Given the description of an element on the screen output the (x, y) to click on. 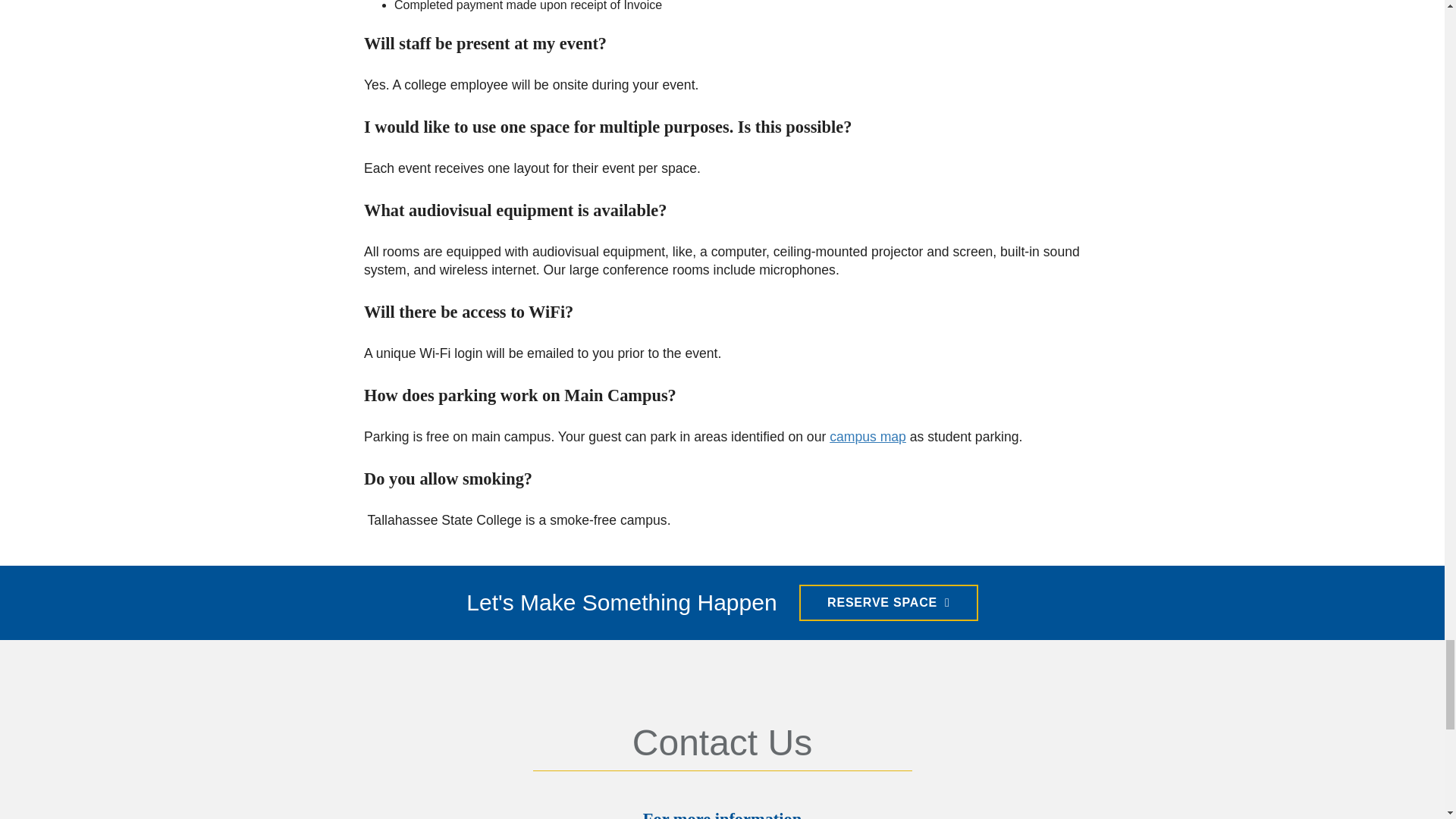
TSC Campus Map (867, 436)
